Given the description of an element on the screen output the (x, y) to click on. 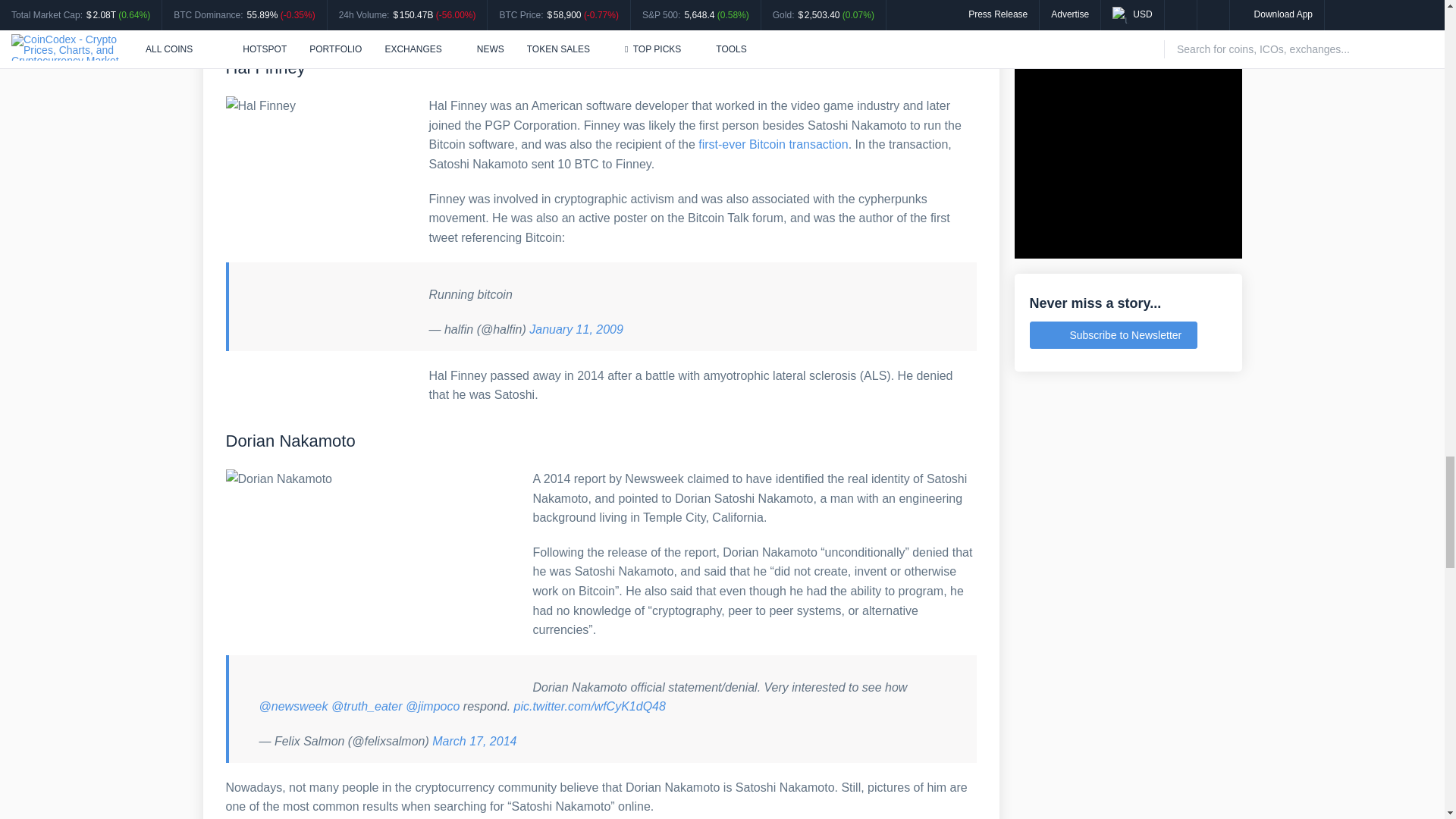
January 11, 2009 (576, 328)
March 17, 2014 (474, 740)
first-ever Bitcoin transaction (772, 144)
